Given the description of an element on the screen output the (x, y) to click on. 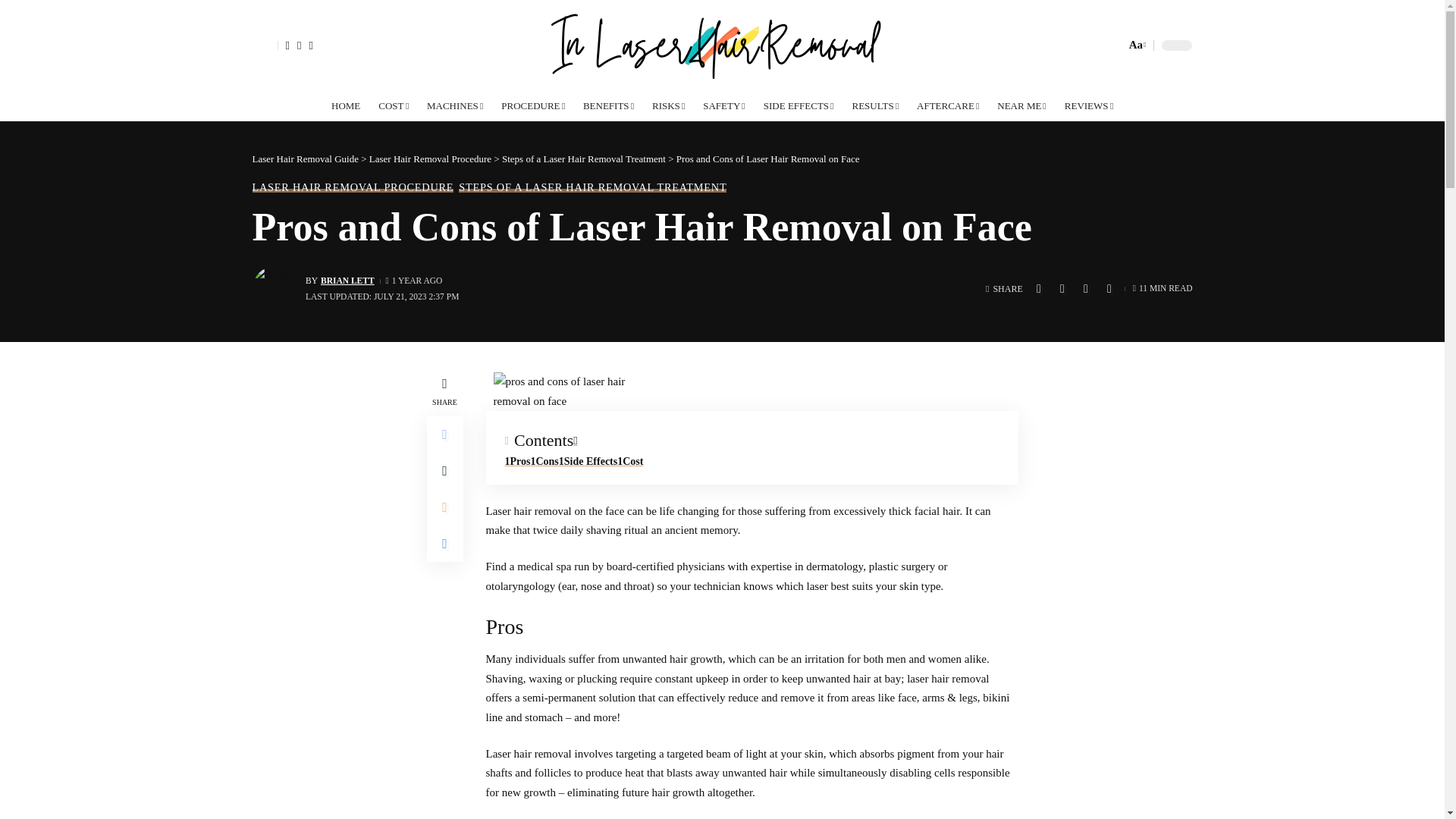
RISKS (668, 105)
HOME (345, 105)
Go to the Laser Hair Removal Procedure Category archives. (430, 158)
BENEFITS (608, 105)
MACHINES (454, 105)
SIDE EFFECTS (798, 105)
Laser Hair Removal Guide (1136, 45)
SAFETY (722, 45)
AFTERCARE (724, 105)
